Given the description of an element on the screen output the (x, y) to click on. 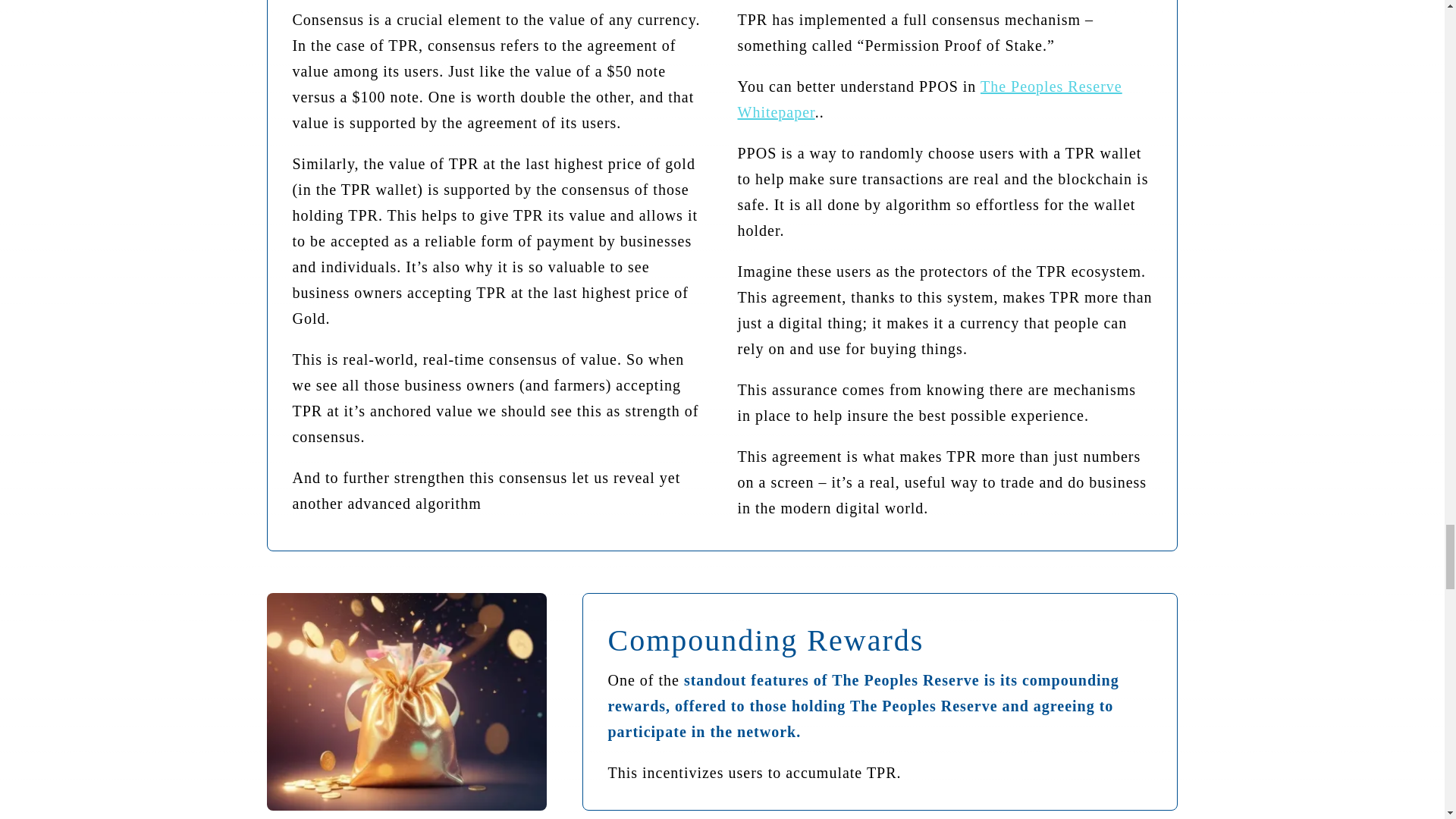
The Peoples Reserve Whitepaper (928, 98)
